Given the description of an element on the screen output the (x, y) to click on. 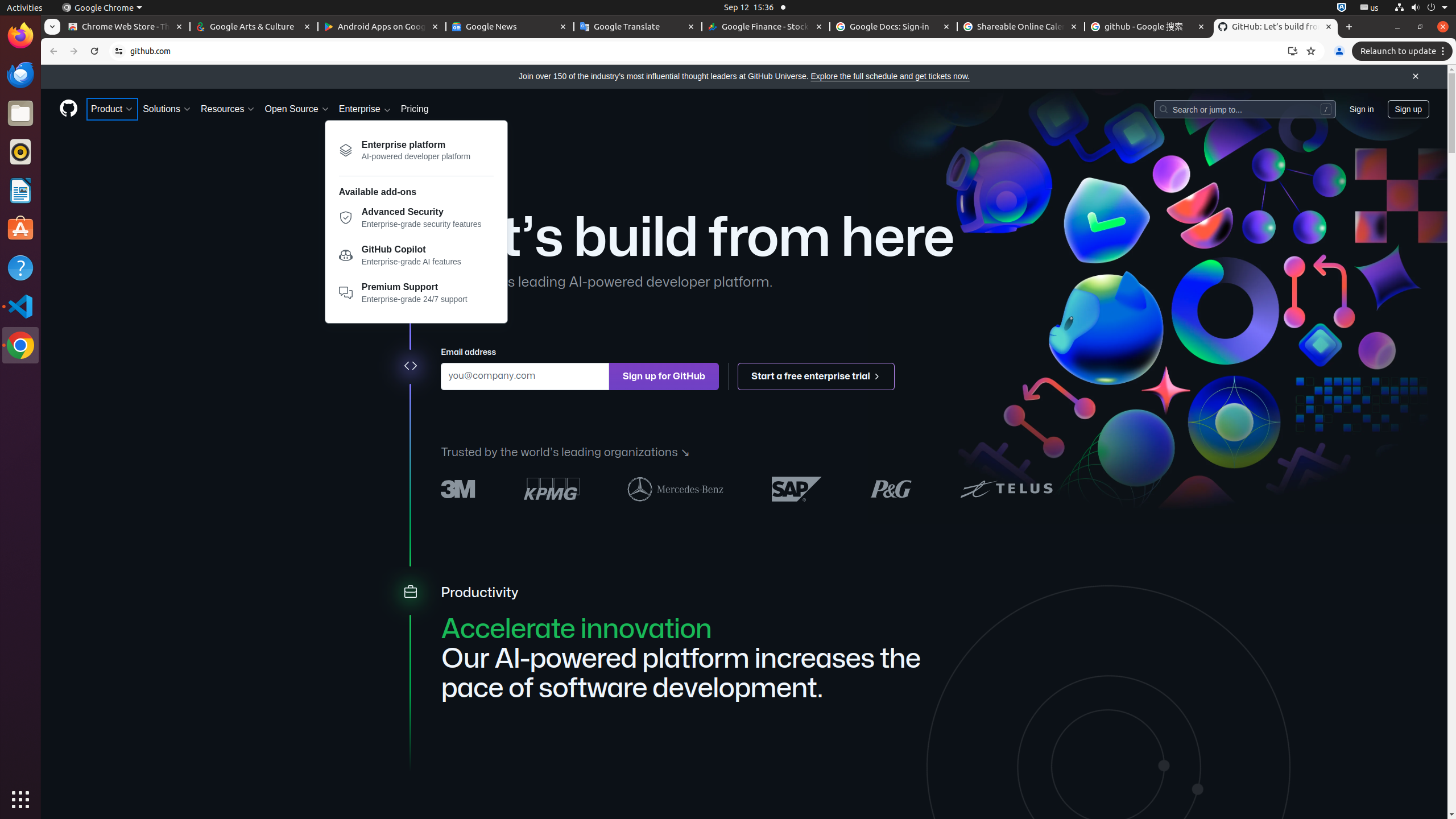
Advanced Security Enterprise-grade security features Element type: link (415, 220)
Google Docs: Sign-in - Memory usage - 31.9 MB Element type: page-tab (893, 26)
Premium Support Enterprise-grade 24/7 support Element type: link (415, 292)
Thunderbird Mail Element type: push-button (20, 74)
Firefox Web Browser Element type: push-button (20, 35)
